Given the description of an element on the screen output the (x, y) to click on. 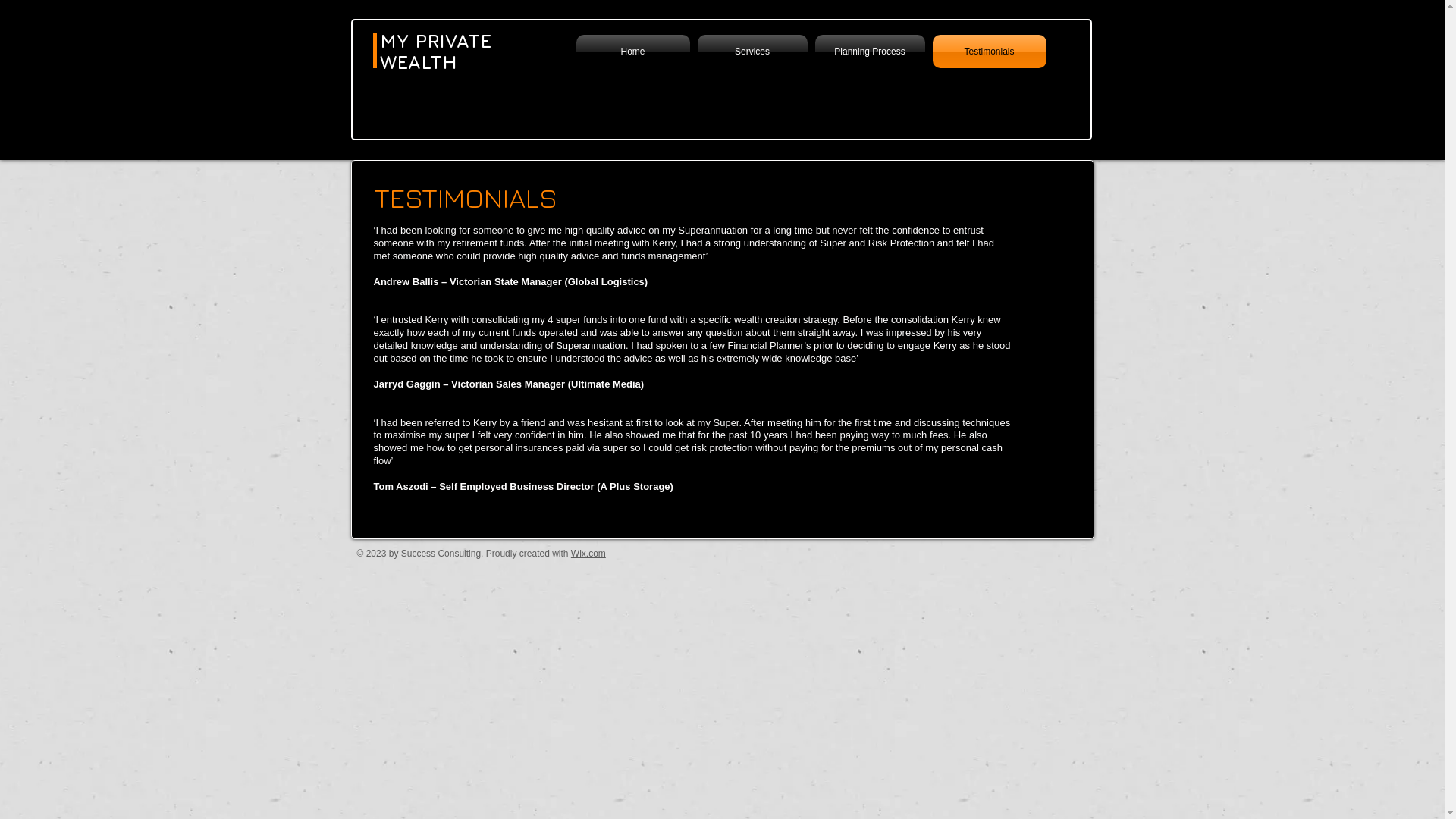
Testimonials Element type: text (986, 51)
Home Element type: text (634, 51)
Wix.com Element type: text (588, 553)
Services Element type: text (751, 51)
Planning Process Element type: text (869, 51)
